Given the description of an element on the screen output the (x, y) to click on. 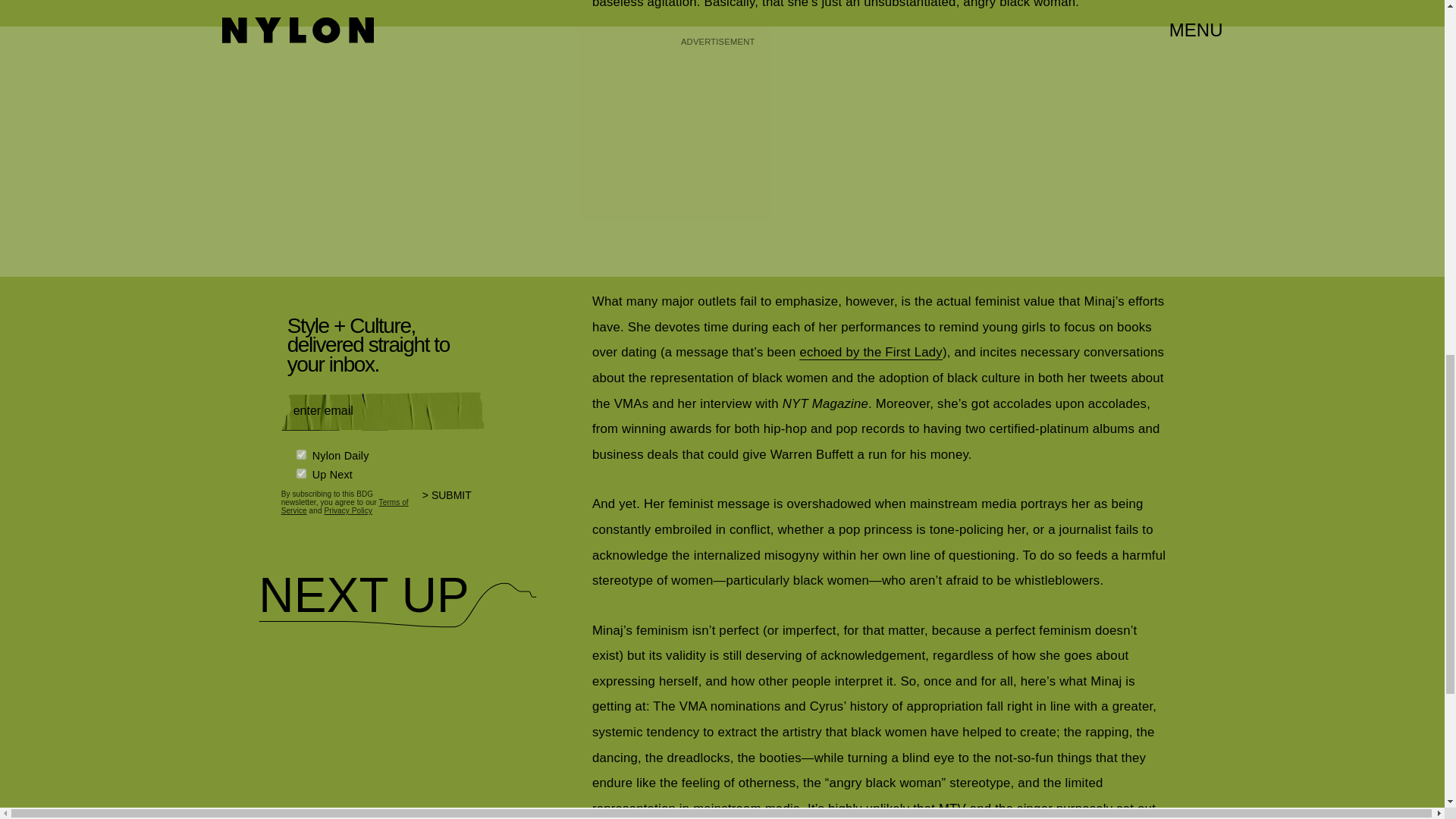
Privacy Policy (347, 510)
echoed by the First Lady (870, 352)
Terms of Service (345, 506)
SUBMIT (453, 504)
